Given the description of an element on the screen output the (x, y) to click on. 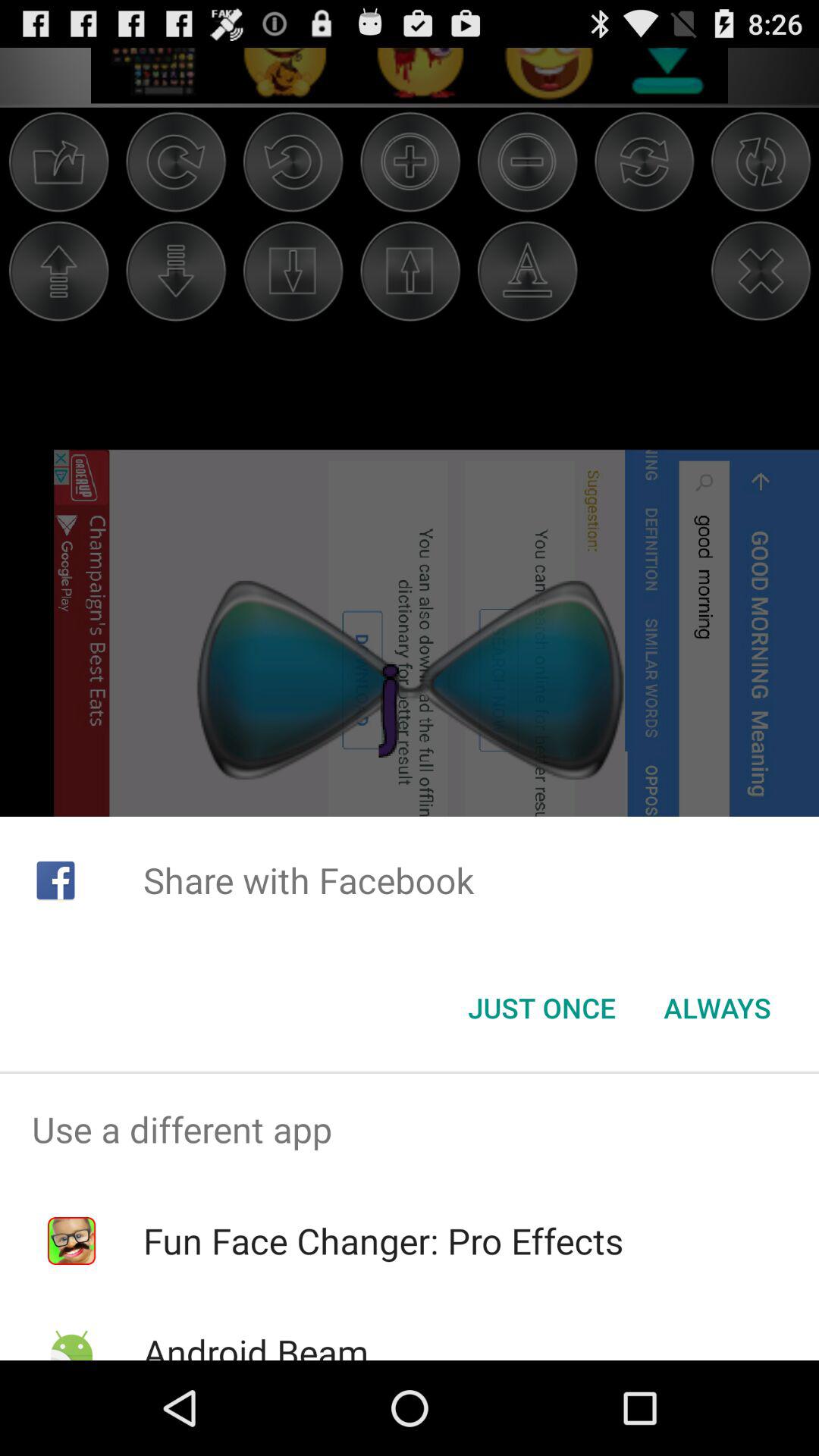
flip until the android beam (255, 1344)
